Given the description of an element on the screen output the (x, y) to click on. 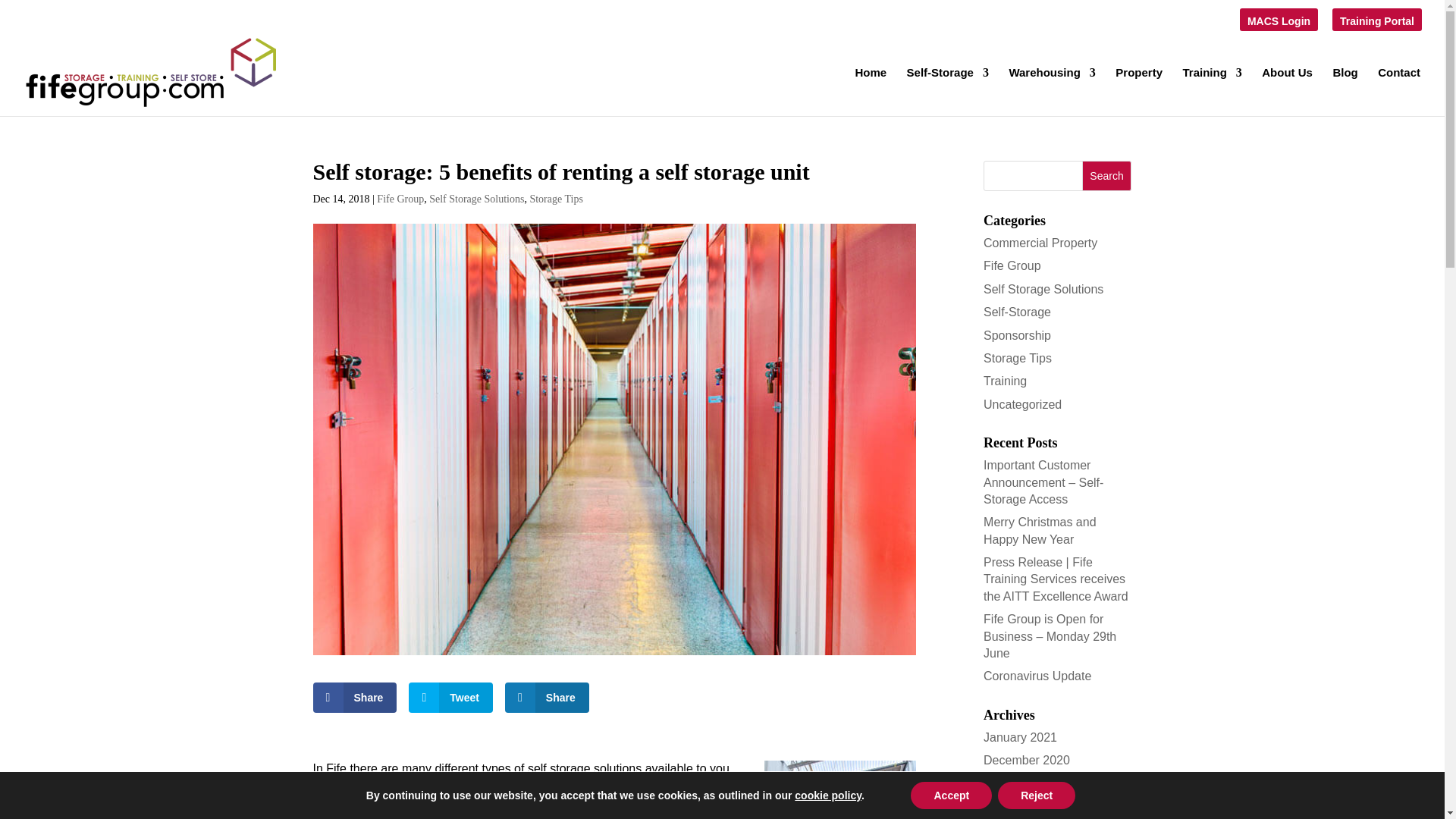
Search (1106, 175)
Training (1211, 90)
MACS Login (1278, 24)
Property (1138, 90)
About Us (1287, 90)
Self-Storage (947, 90)
Warehousing (1051, 90)
Training Portal (1376, 24)
